Given the description of an element on the screen output the (x, y) to click on. 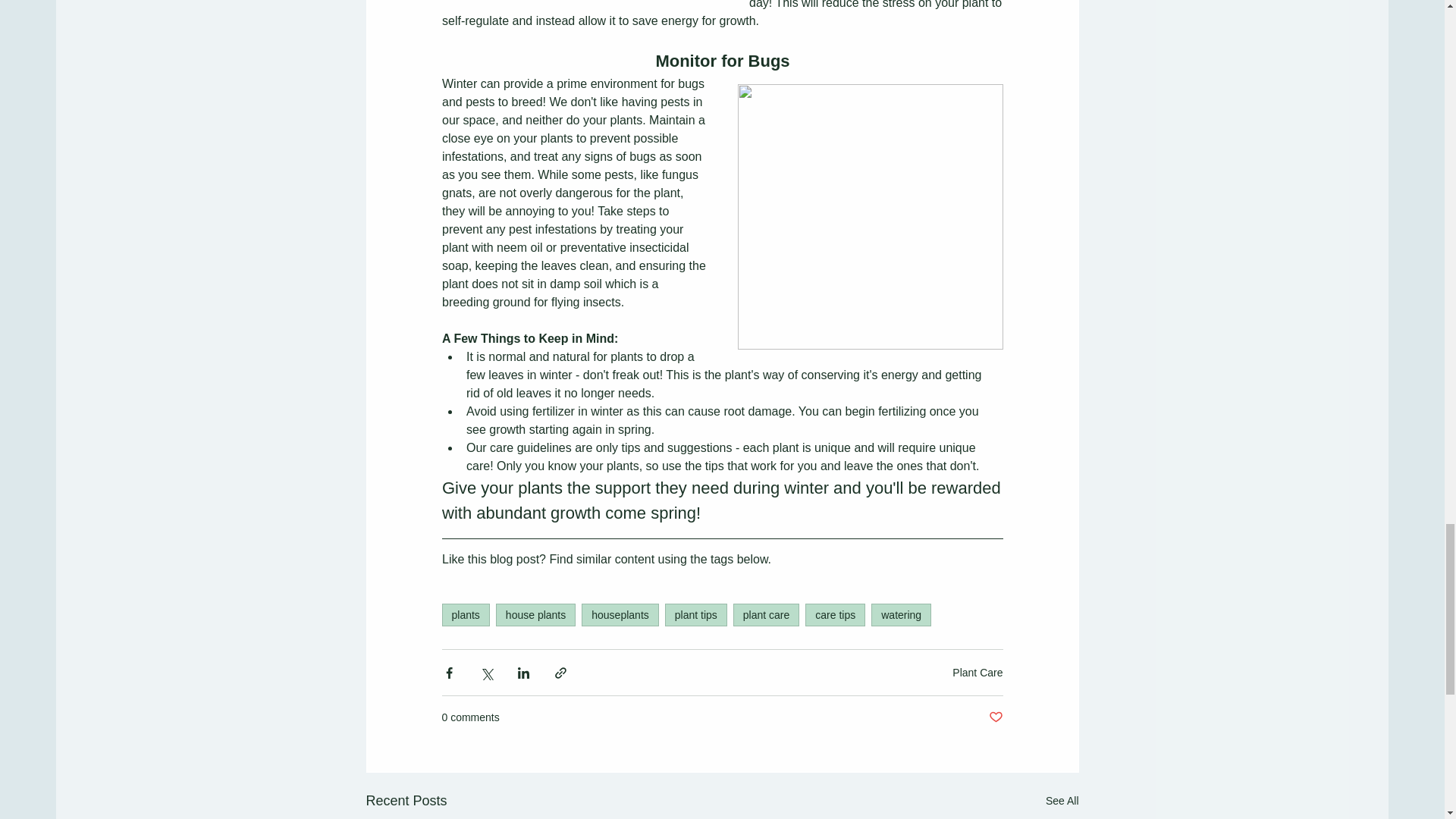
house plants (535, 614)
plant care (766, 614)
Plant Care (977, 672)
watering (900, 614)
houseplants (619, 614)
plants (465, 614)
plant tips (695, 614)
care tips (834, 614)
